Given the description of an element on the screen output the (x, y) to click on. 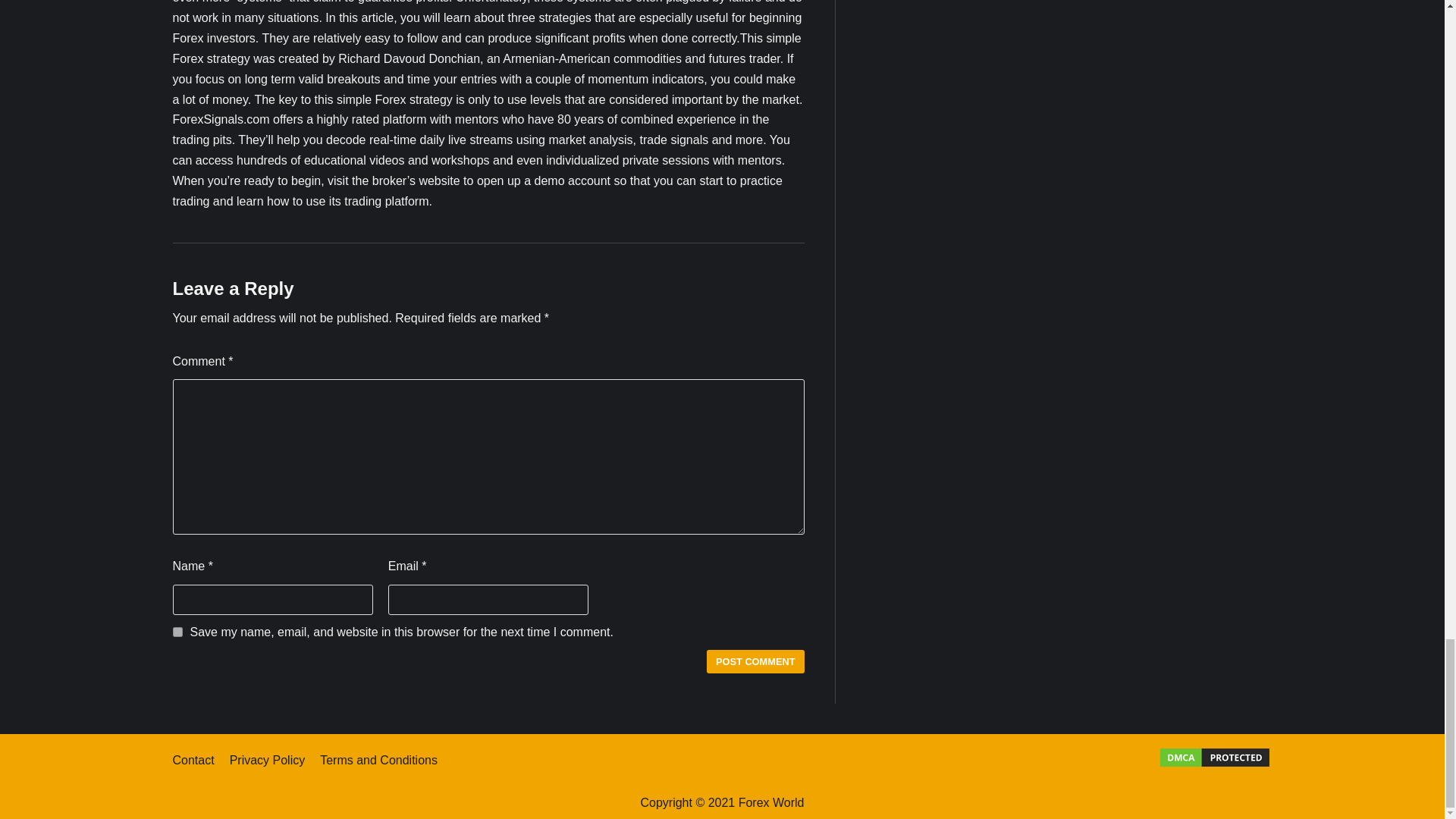
yes (178, 632)
Post Comment (755, 661)
DMCA.com Protection Status (1214, 764)
Post Comment (755, 661)
